Given the description of an element on the screen output the (x, y) to click on. 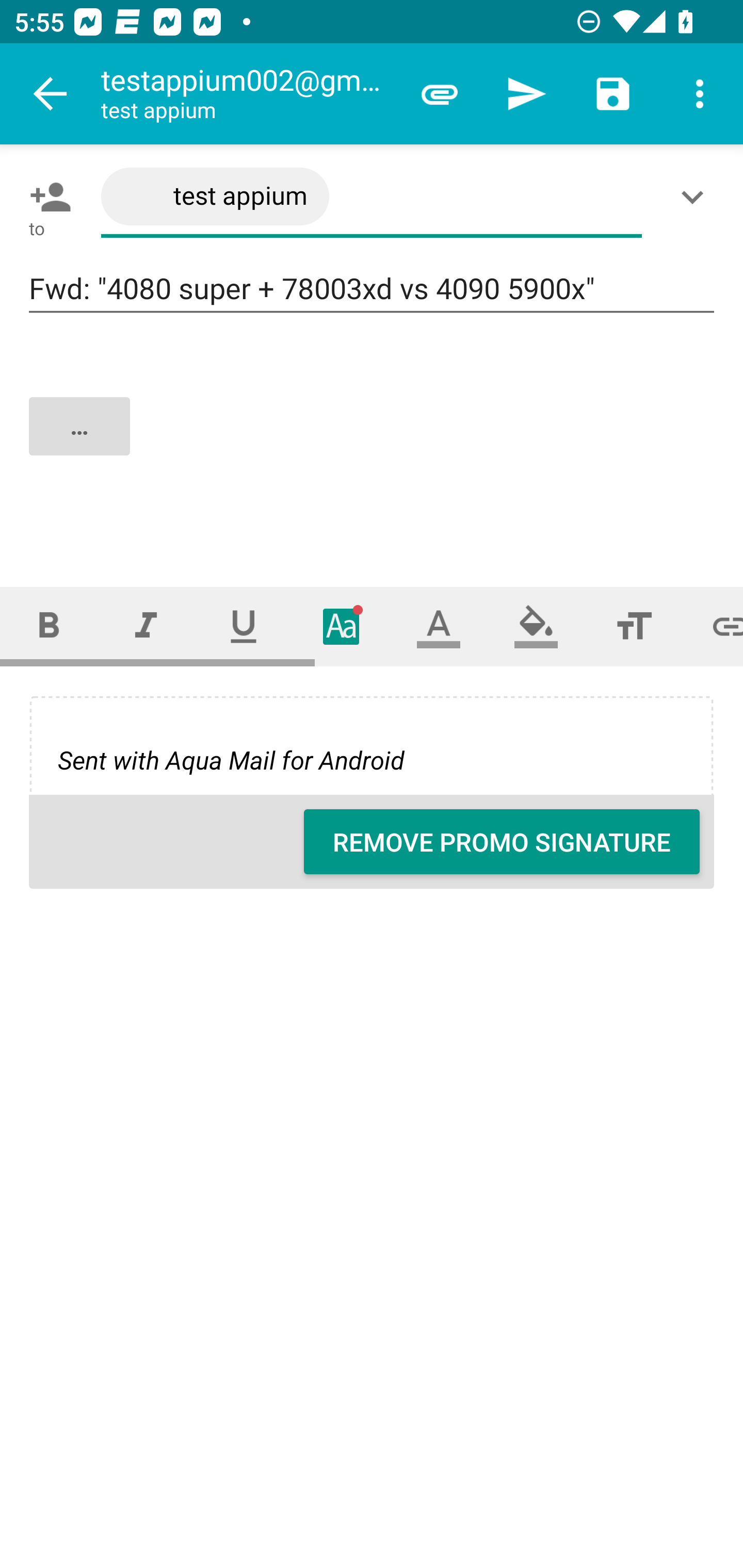
Navigate up (50, 93)
testappium002@gmail.com test appium (248, 93)
Attach (439, 93)
Send (525, 93)
Save (612, 93)
More options (699, 93)
test appium <testappium002@gmail.com>,  (371, 197)
Pick contact: To (46, 196)
Show/Add CC/BCC (696, 196)
Fwd: "4080 super + 78003xd vs 4090 5900x" (371, 288)

…
 (372, 442)
Bold (48, 626)
Italic (145, 626)
Underline (243, 626)
Typeface (font) (341, 626)
Text color (438, 626)
Fill color (536, 626)
Font size (633, 626)
Set link (712, 626)
REMOVE PROMO SIGNATURE (501, 841)
